Given the description of an element on the screen output the (x, y) to click on. 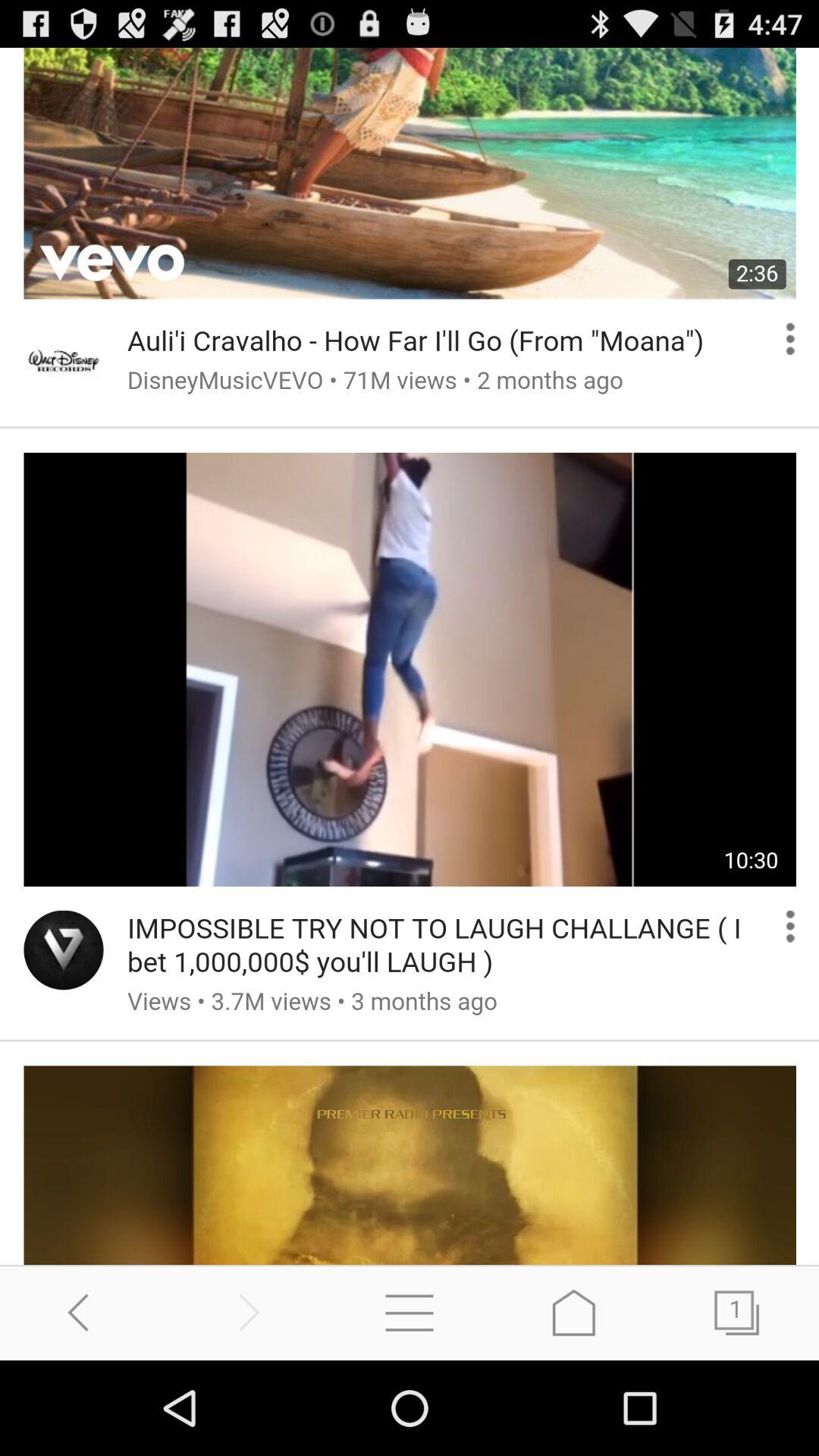
go to previous page (81, 1312)
